Given the description of an element on the screen output the (x, y) to click on. 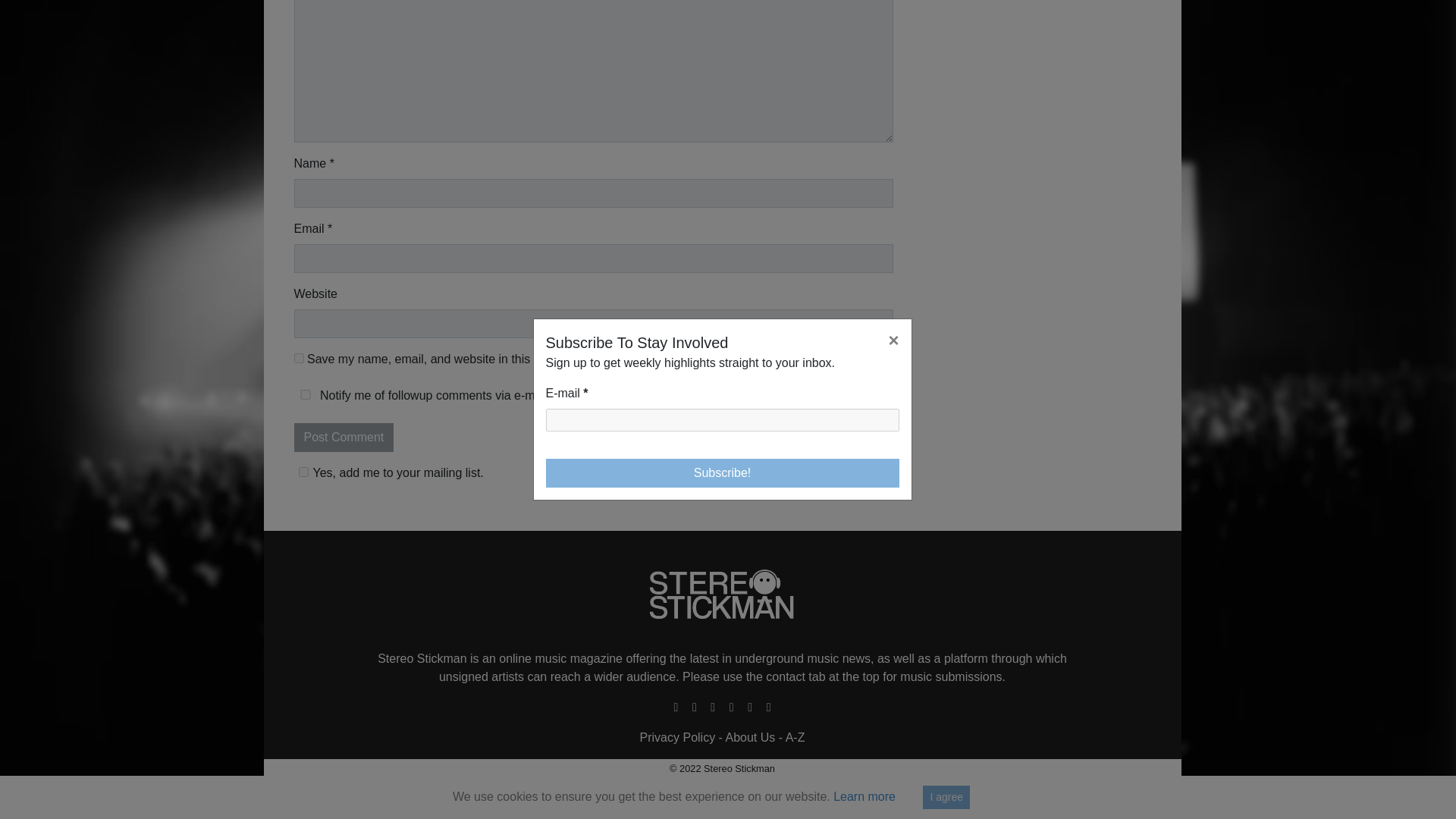
Post Comment (344, 437)
